Given the description of an element on the screen output the (x, y) to click on. 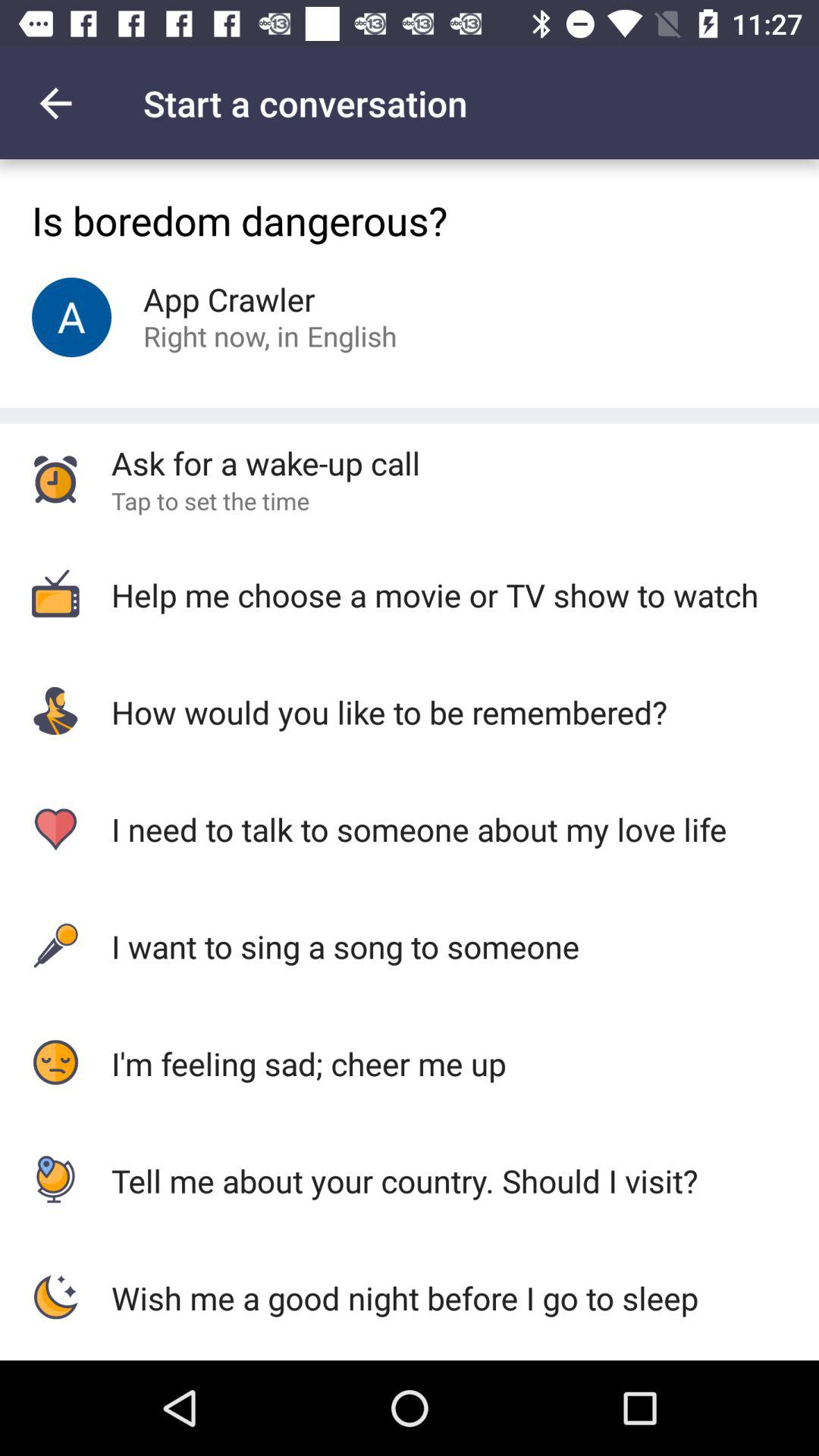
open item to the right of right now, in (351, 336)
